Given the description of an element on the screen output the (x, y) to click on. 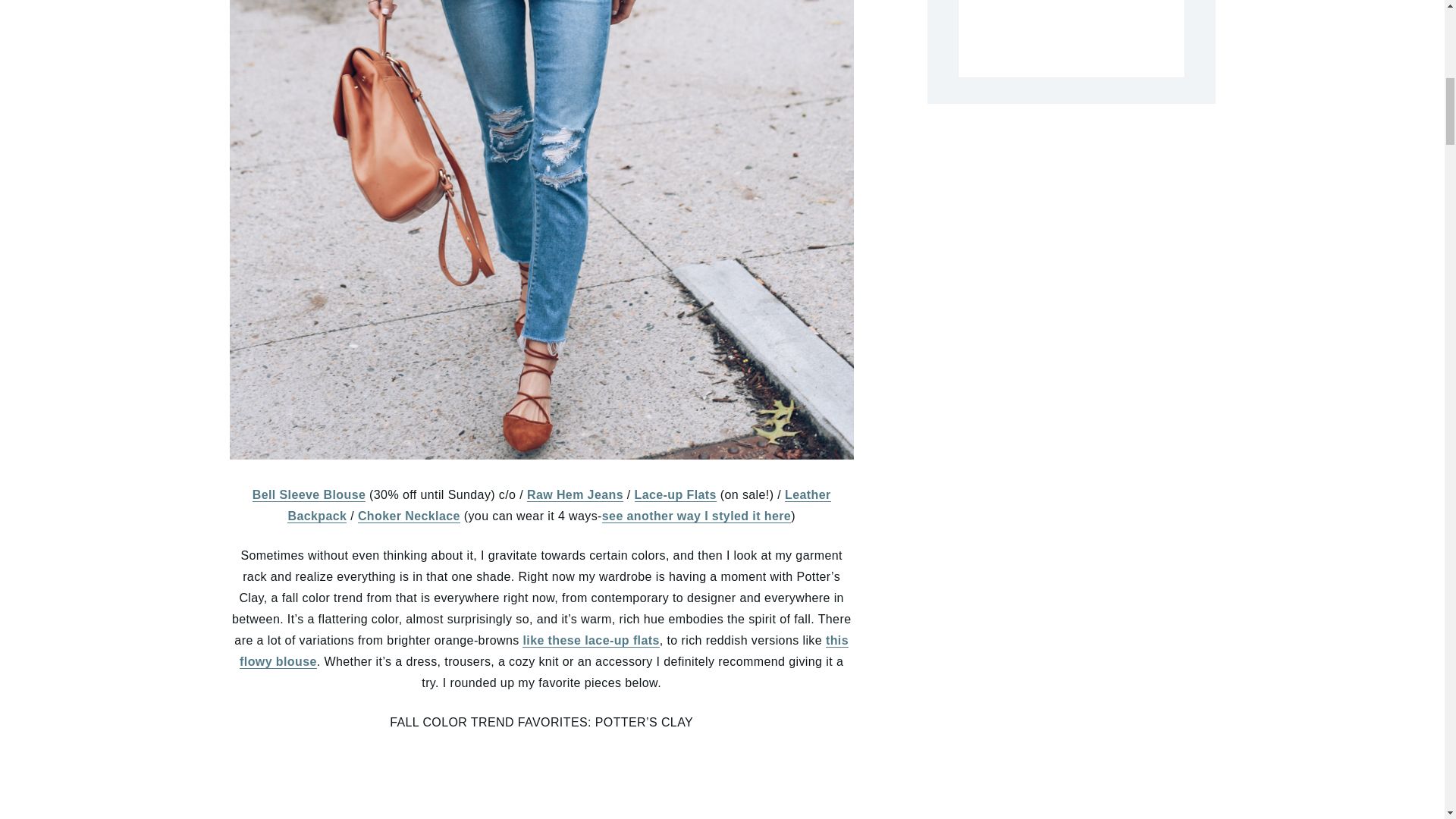
Choker Necklace (409, 516)
Leather Backpack (557, 505)
Lace-up Flats (675, 495)
Bell Sleeve Blouse (308, 495)
see another way I styled it here (696, 516)
Raw Hem Jeans (575, 495)
